Given the description of an element on the screen output the (x, y) to click on. 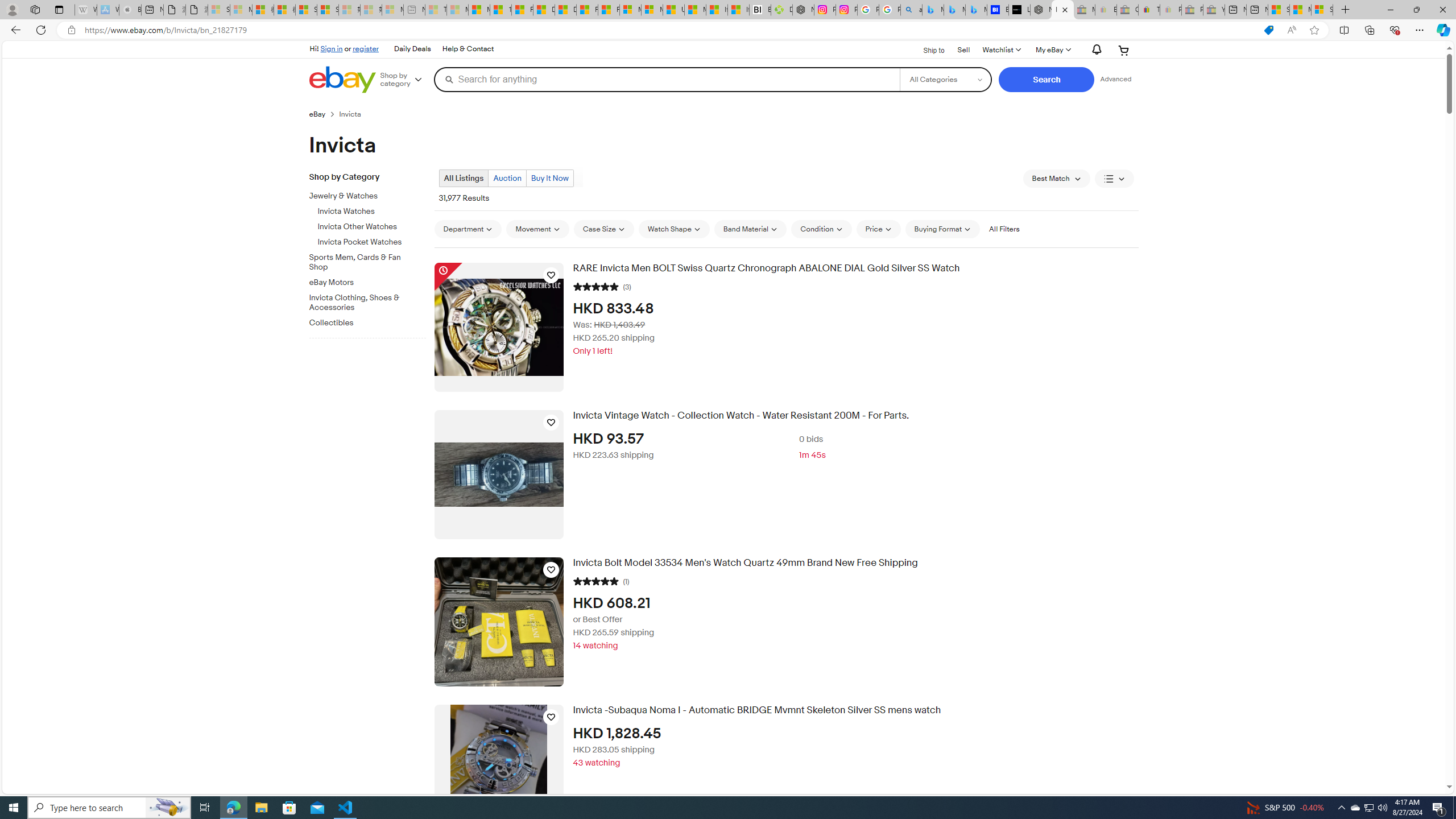
Invicta Pocket Watches (371, 240)
Ship to (926, 49)
Invicta Clothing, Shoes & Accessories (362, 303)
eBay Motors (362, 282)
Shanghai, China hourly forecast | Microsoft Weather (1278, 9)
Microsoft Bing Travel - Flights from Hong Kong to Bangkok (933, 9)
Department (467, 229)
Watch Shape (673, 229)
My eBayExpand My eBay (1052, 49)
